Given the description of an element on the screen output the (x, y) to click on. 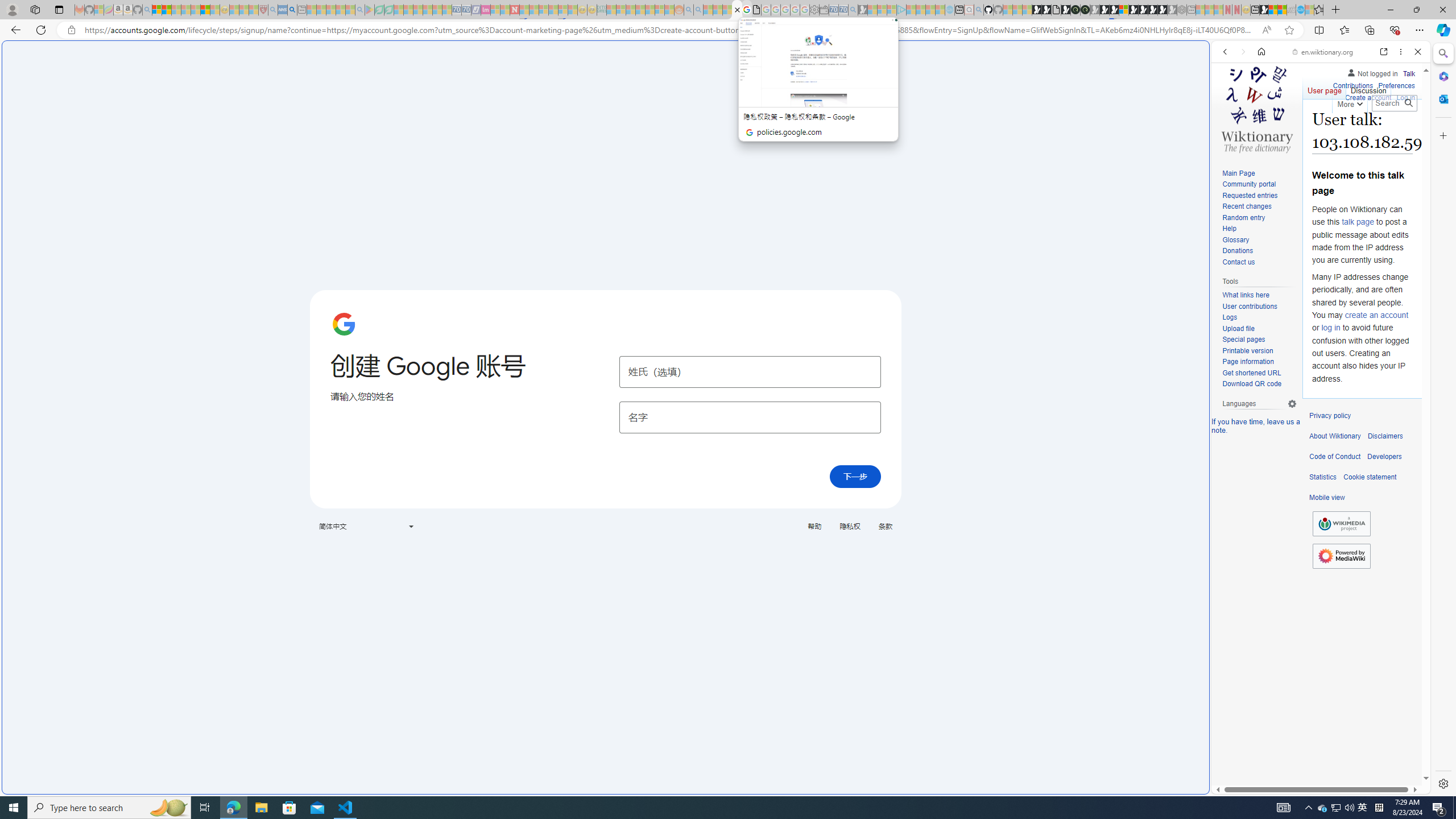
Visit the main page (1257, 108)
Main Page (1238, 172)
Disclaimers (1385, 436)
Logs (1259, 317)
Glossary (1259, 240)
Mobile view (1326, 497)
